Given the description of an element on the screen output the (x, y) to click on. 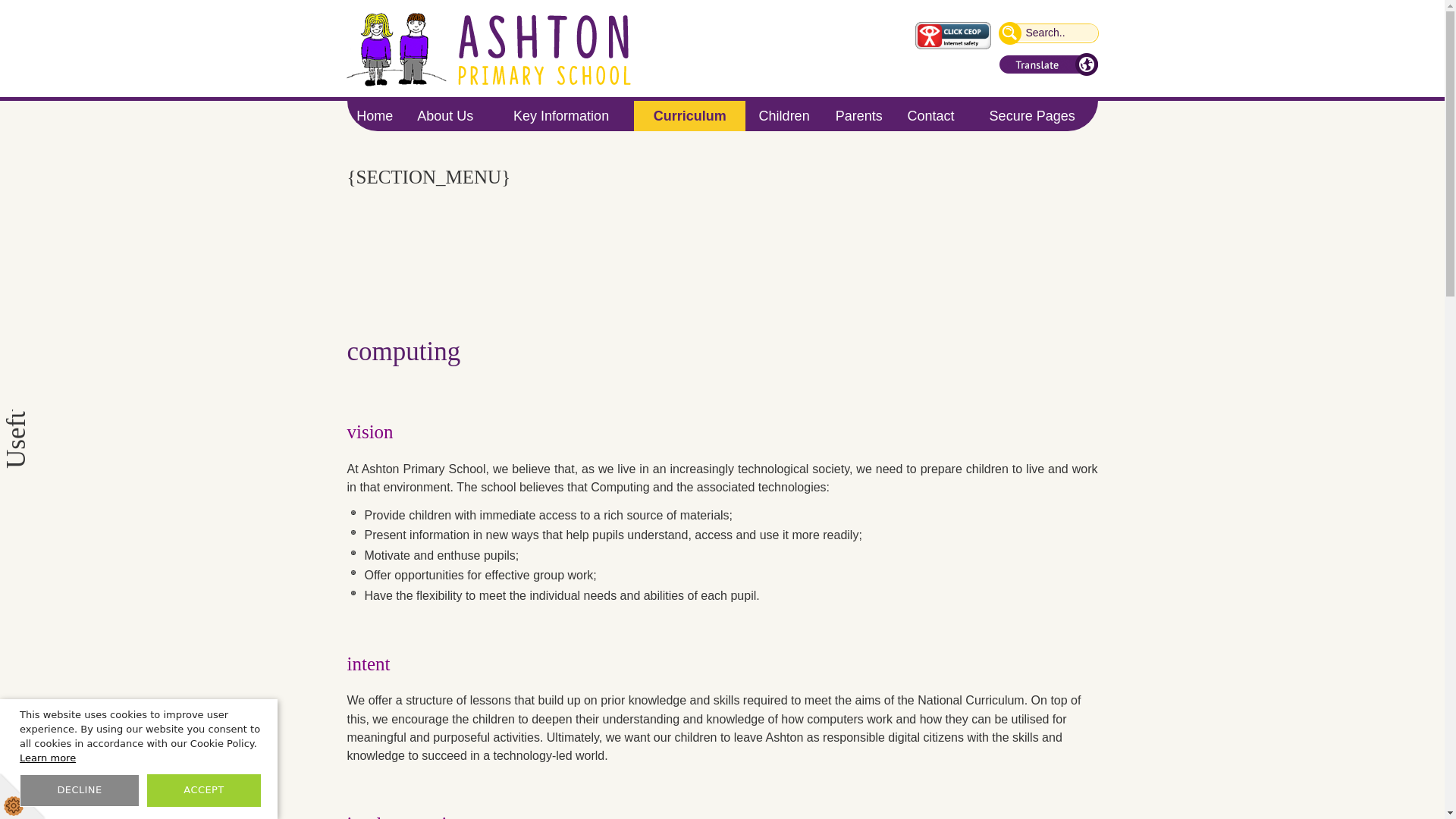
Children (783, 115)
Curriculum (689, 115)
Key Information (560, 115)
Search.. (1049, 32)
About Us (445, 115)
Parents (858, 115)
Home (375, 115)
